Given the description of an element on the screen output the (x, y) to click on. 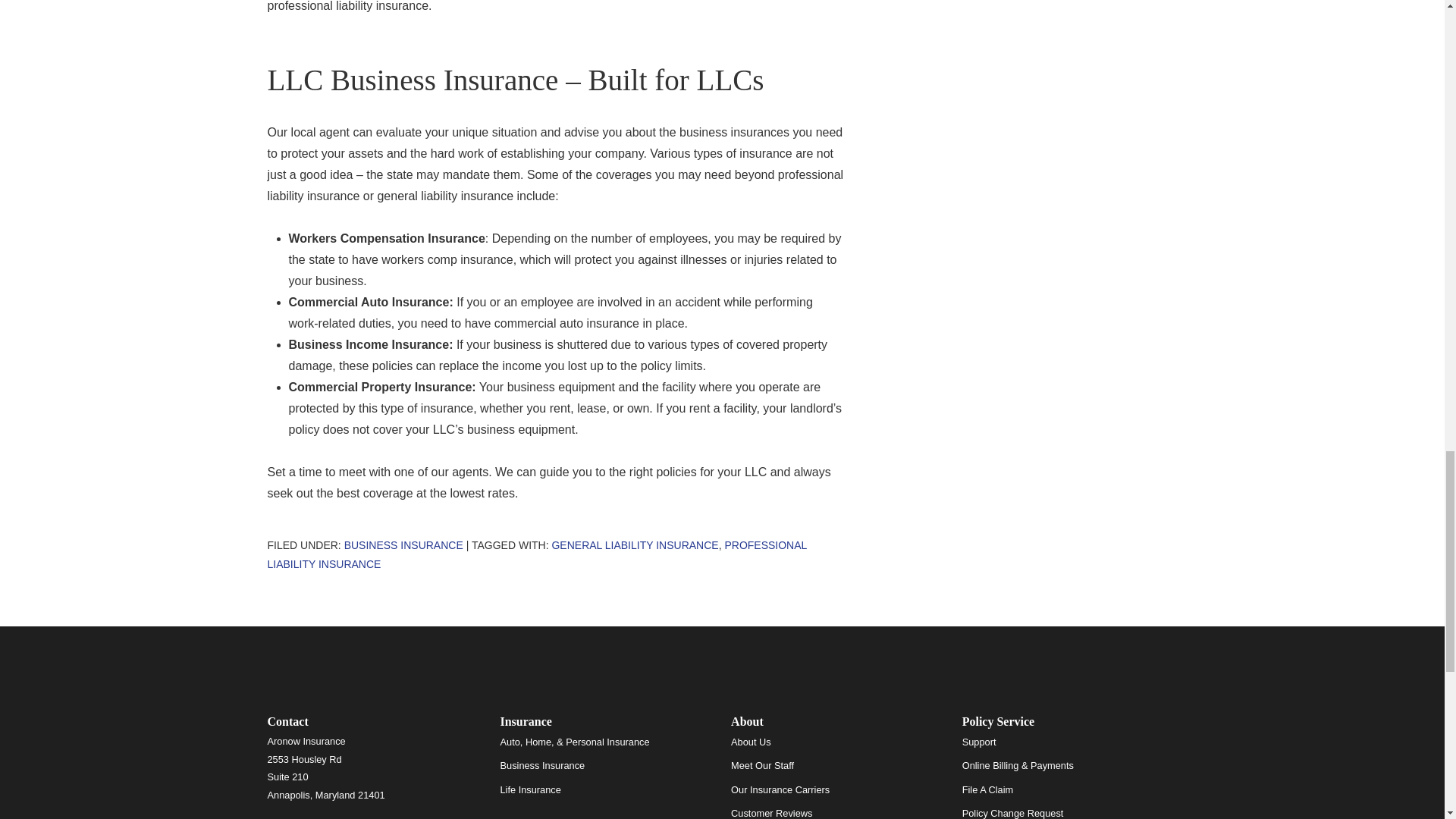
Professional Liability Insurance (536, 554)
Business Insurance (403, 544)
General Liability Insurance (634, 544)
